Given the description of an element on the screen output the (x, y) to click on. 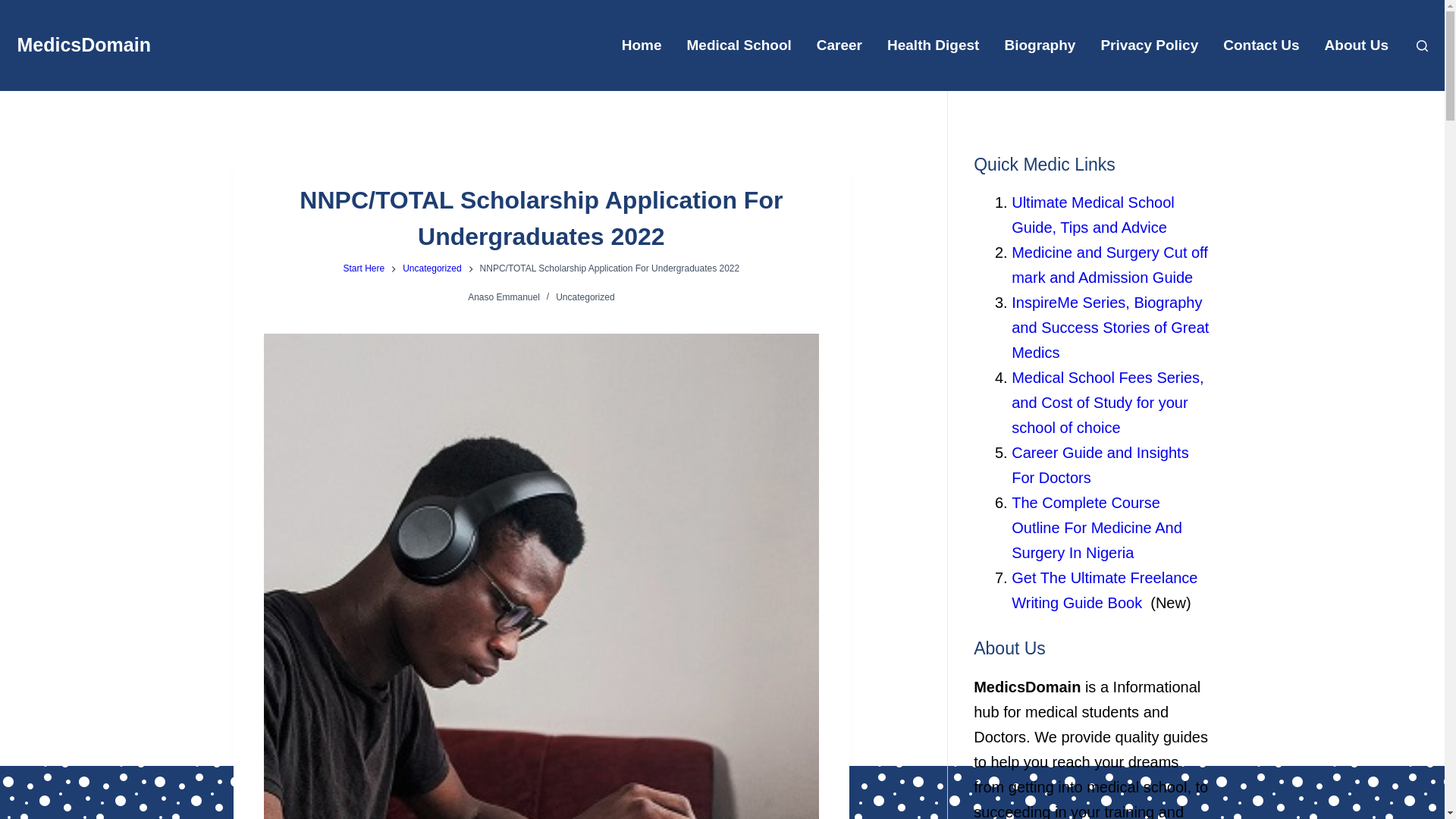
Privacy Policy (1149, 45)
Skip to content (15, 7)
About Us (1355, 45)
Medical School (738, 45)
Start Here (363, 268)
Biography (1039, 45)
Contact Us (1261, 45)
Posts by Anaso Emmanuel (503, 296)
Uncategorized (432, 268)
Anaso Emmanuel (503, 296)
Health Digest (933, 45)
Uncategorized (585, 296)
MedicsDomain (82, 44)
